Given the description of an element on the screen output the (x, y) to click on. 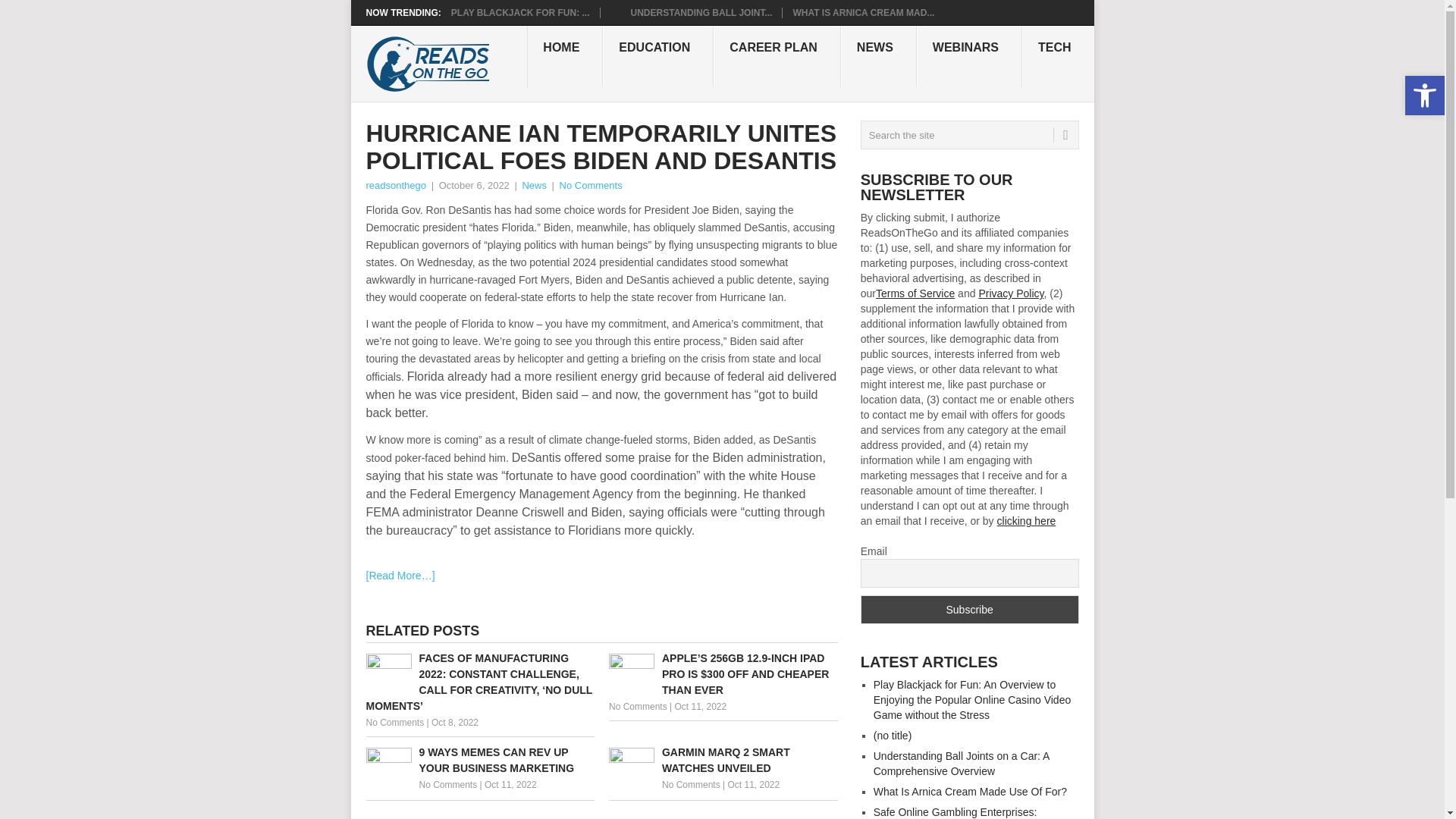
clicking here (1027, 521)
NEWS (879, 56)
TECH (1058, 56)
Privacy Policy (1010, 293)
GARMIN MARQ 2 SMART WATCHES UNVEILED (723, 760)
Search the site (969, 134)
What Is Arnica Cream Made Use Of For? (863, 12)
Accessibility Tools (1424, 95)
No Comments (637, 706)
